Given the description of an element on the screen output the (x, y) to click on. 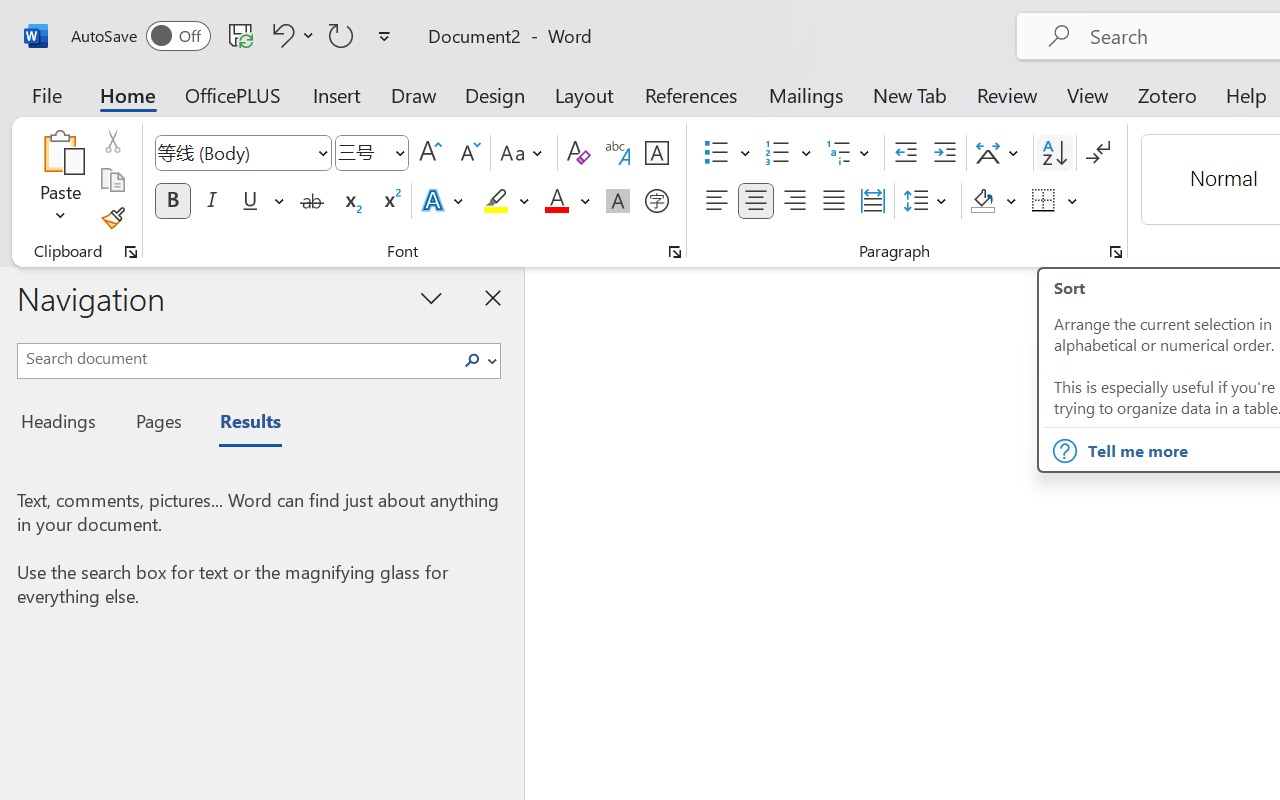
Bullets (727, 153)
File Tab (46, 94)
Draw (413, 94)
Text Effects and Typography (444, 201)
Class: NetUIImage (471, 360)
Numbering (778, 153)
Show/Hide Editing Marks (1098, 153)
Zotero (1166, 94)
References (690, 94)
Pages (156, 424)
Text Highlight Color Yellow (495, 201)
Results (240, 424)
Multilevel List (850, 153)
Phonetic Guide... (618, 153)
